Given the description of an element on the screen output the (x, y) to click on. 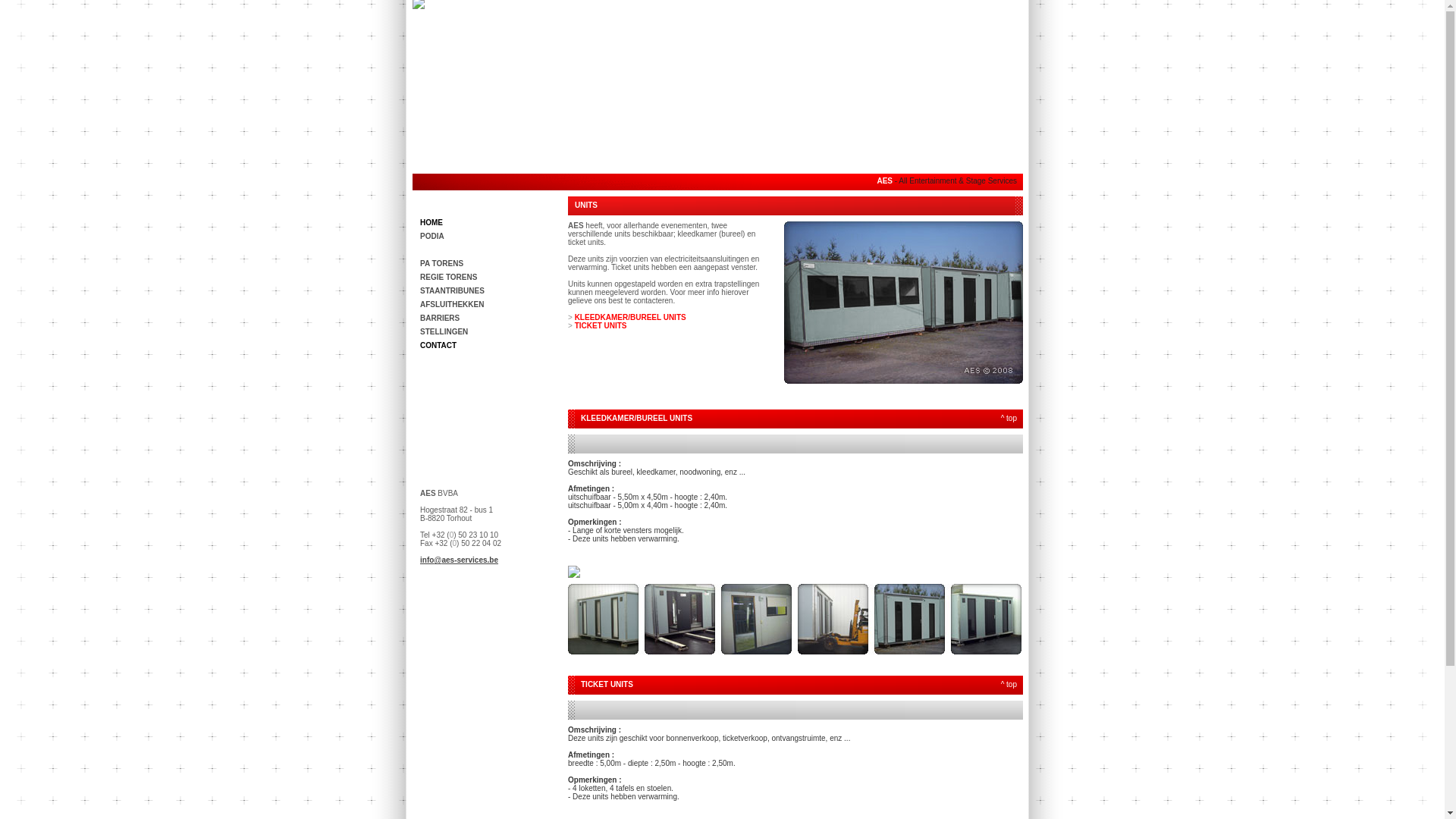
AFSLUITHEKKEN Element type: text (486, 304)
HOME Element type: text (486, 222)
STAANTRIBUNES Element type: text (486, 291)
CONTACT Element type: text (486, 345)
PODIA Element type: text (486, 236)
info@aes-services.be Element type: text (459, 559)
^ top Element type: text (1008, 684)
STELLINGEN Element type: text (486, 331)
UNITS Element type: text (486, 250)
KLEEDKAMER/BUREEL UNITS Element type: text (630, 317)
BARRIERS Element type: text (486, 318)
TICKET UNITS Element type: text (600, 325)
^ top Element type: text (1008, 418)
REGIE TORENS Element type: text (486, 277)
PA TORENS Element type: text (486, 263)
